Given the description of an element on the screen output the (x, y) to click on. 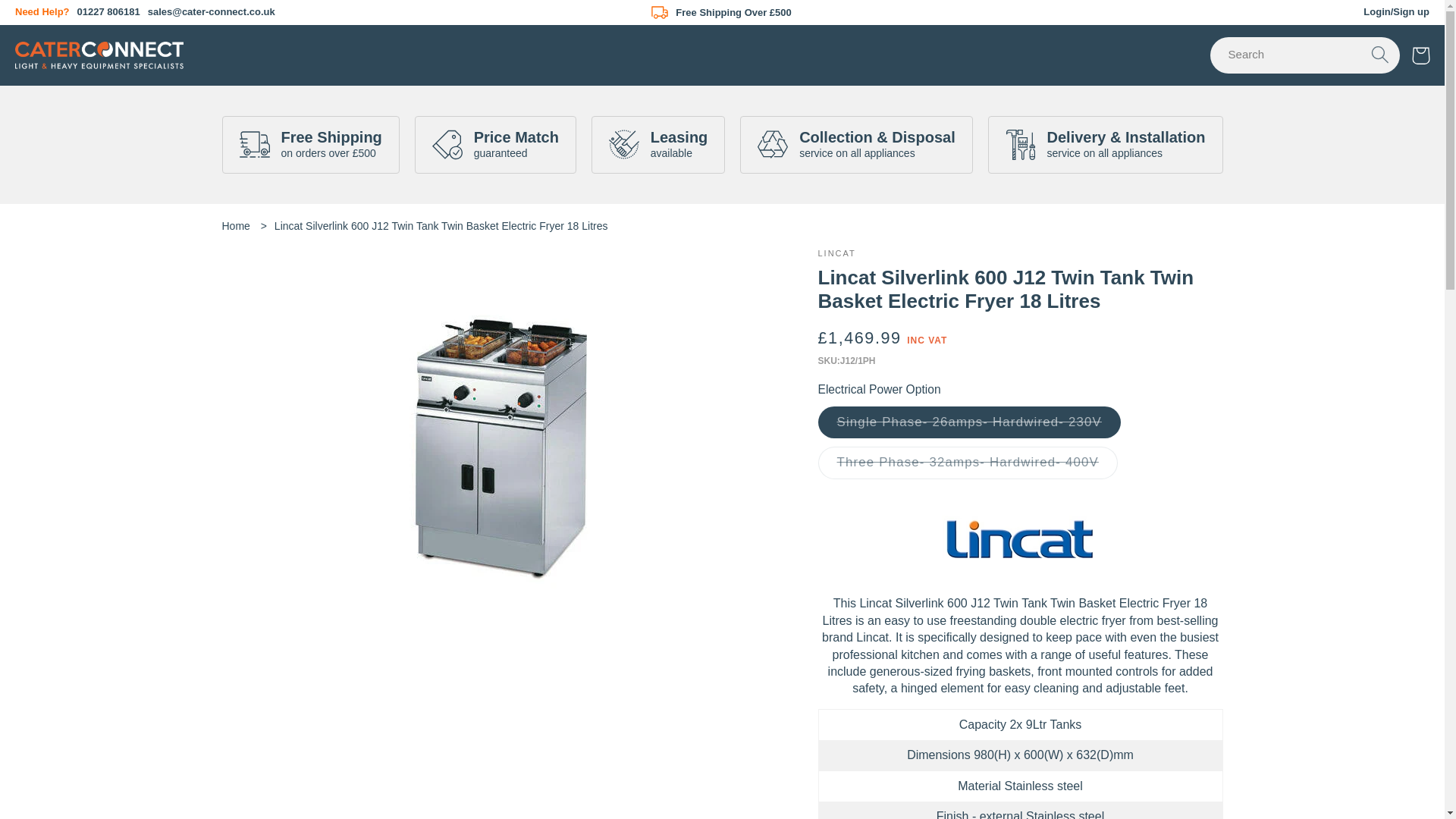
Home (231, 44)
Catalog (291, 44)
Cart (1420, 56)
01227 806181 (108, 11)
Skip to content (55, 20)
Home (234, 225)
